Given the description of an element on the screen output the (x, y) to click on. 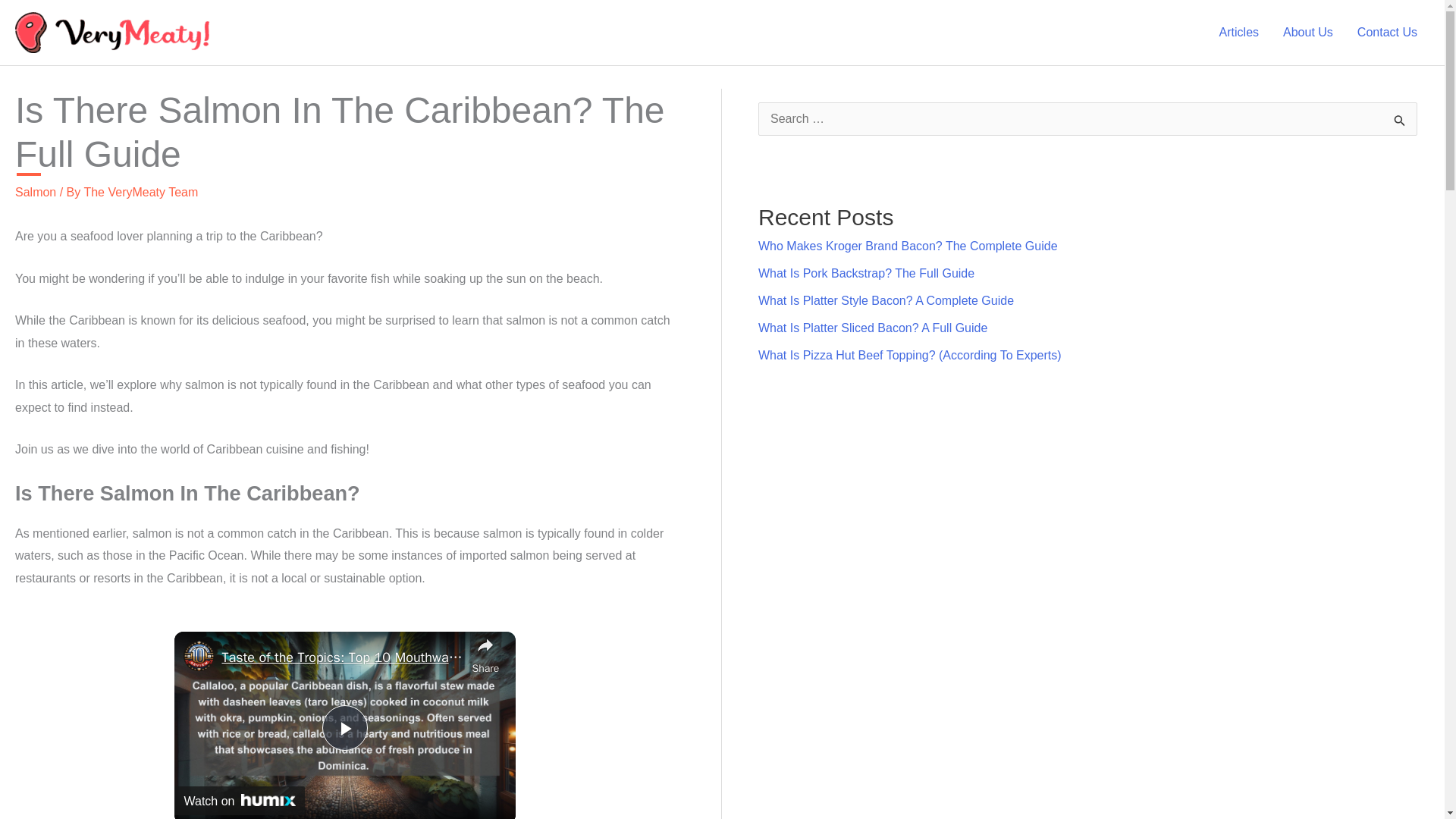
View all posts by The VeryMeaty Team (140, 192)
Taste of the Tropics: Top 10 Mouthwatering Foods in Dominica (342, 657)
Who Makes Kroger Brand Bacon? The Complete Guide (908, 245)
Watch on (239, 800)
The VeryMeaty Team (140, 192)
Articles (1239, 31)
Salmon (35, 192)
Contact Us (1387, 31)
About Us (1308, 31)
Play Video (344, 728)
Play Video (344, 728)
